Given the description of an element on the screen output the (x, y) to click on. 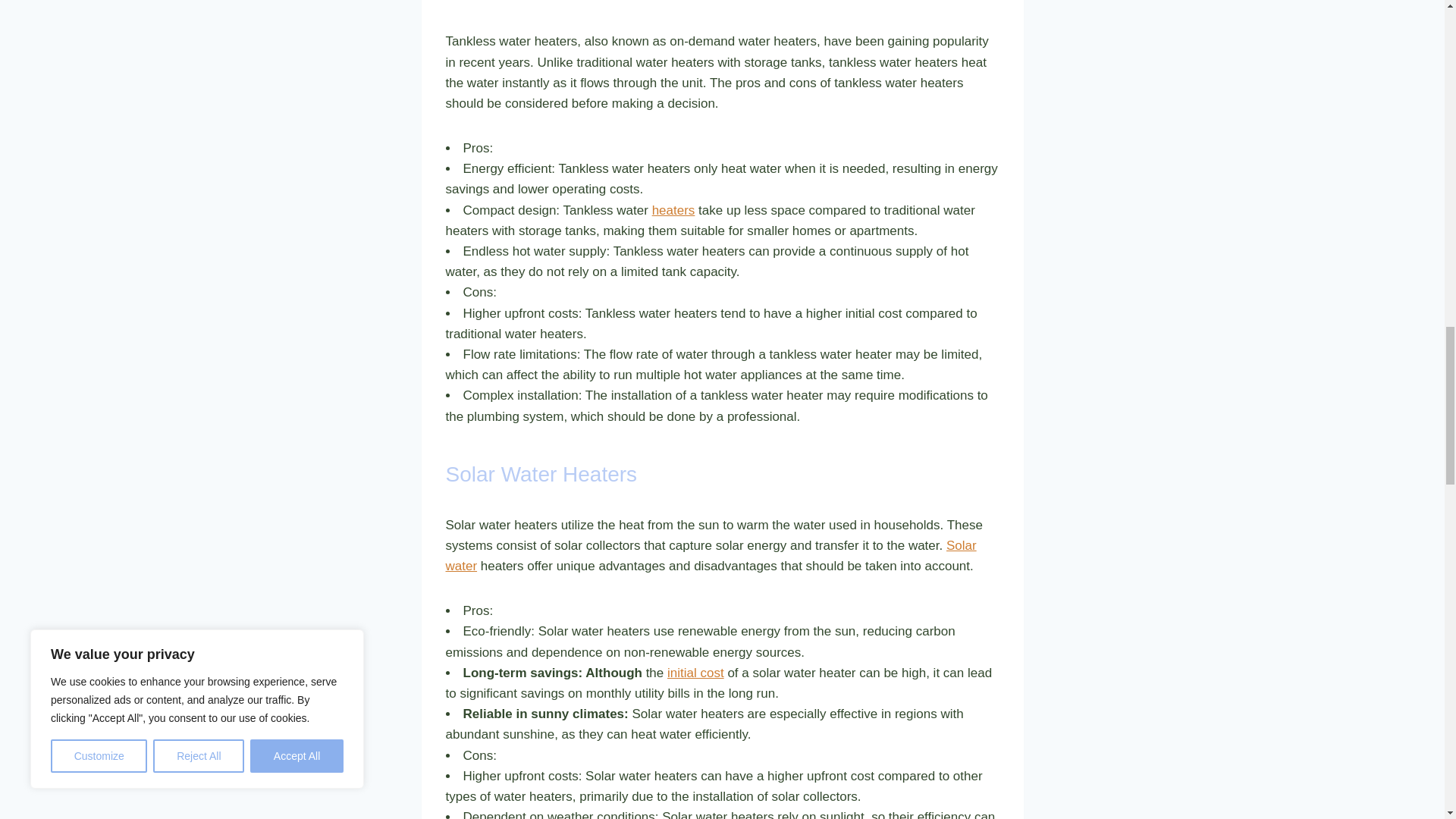
initial cost (694, 672)
Solar water (710, 555)
heaters (673, 210)
